Given the description of an element on the screen output the (x, y) to click on. 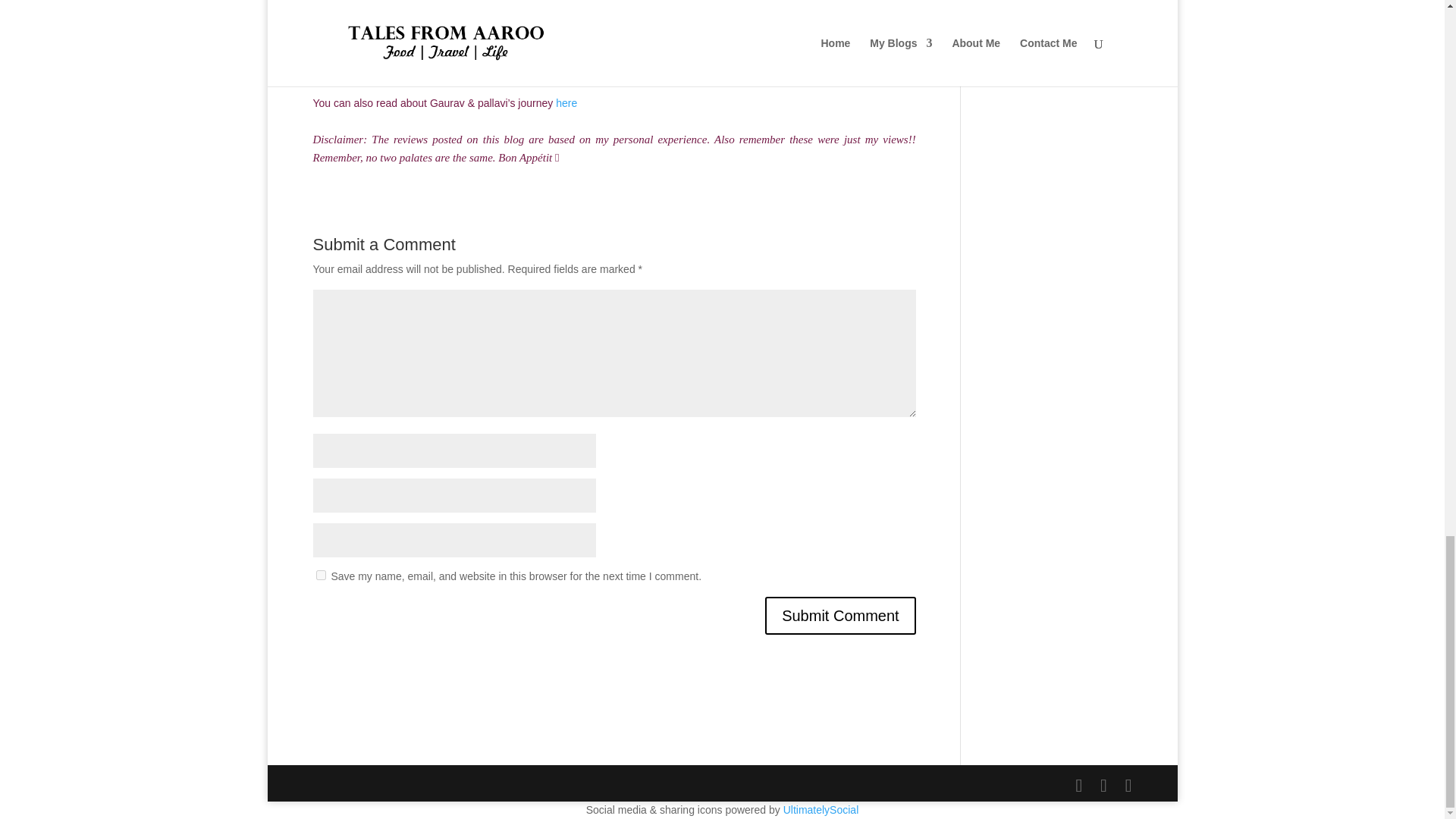
Submit Comment (840, 615)
yes (319, 574)
Submit Comment (840, 615)
here (566, 102)
